Given the description of an element on the screen output the (x, y) to click on. 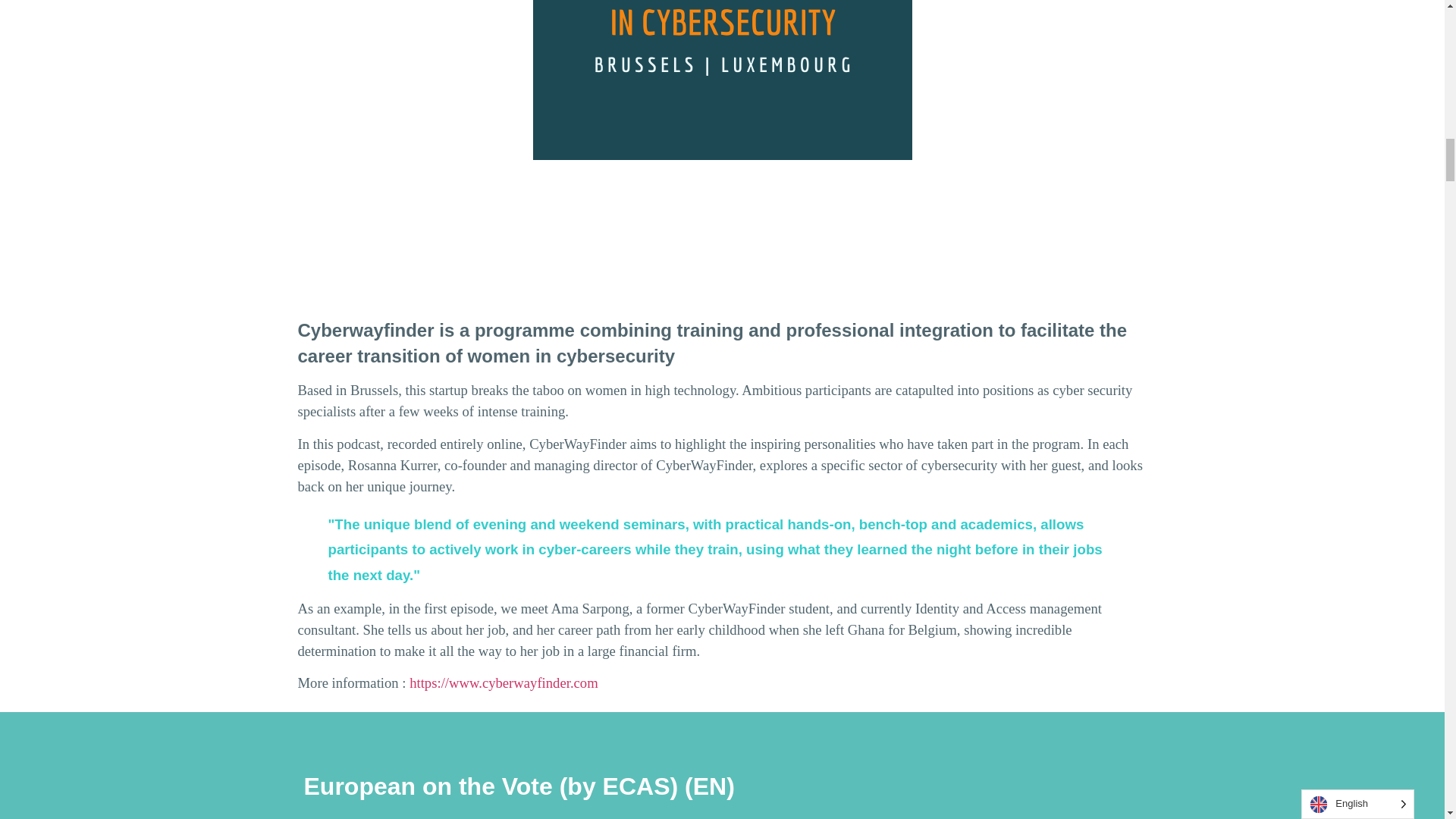
cwf stories (721, 79)
